Given the description of an element on the screen output the (x, y) to click on. 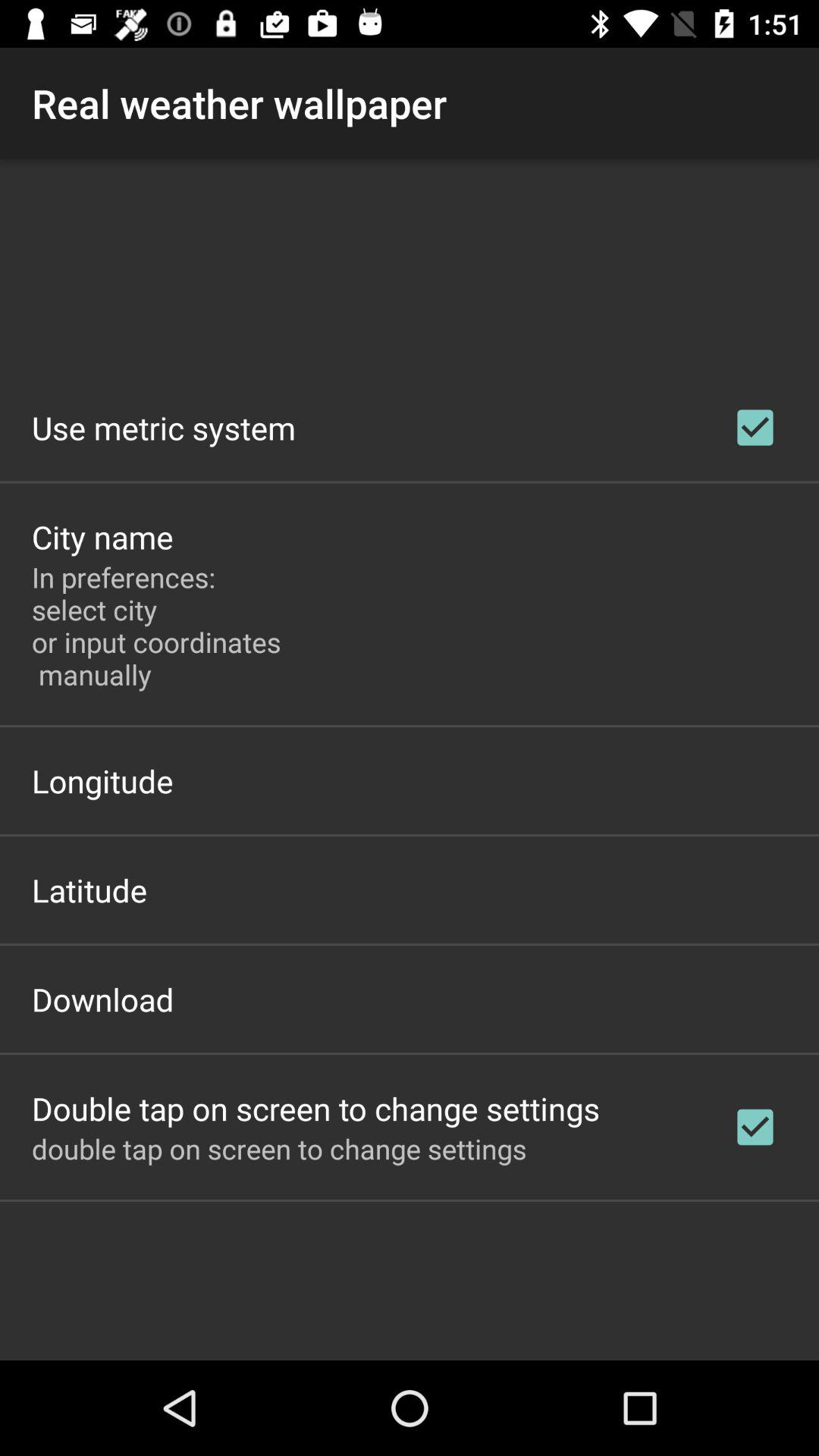
select download at the bottom left corner (102, 998)
